Given the description of an element on the screen output the (x, y) to click on. 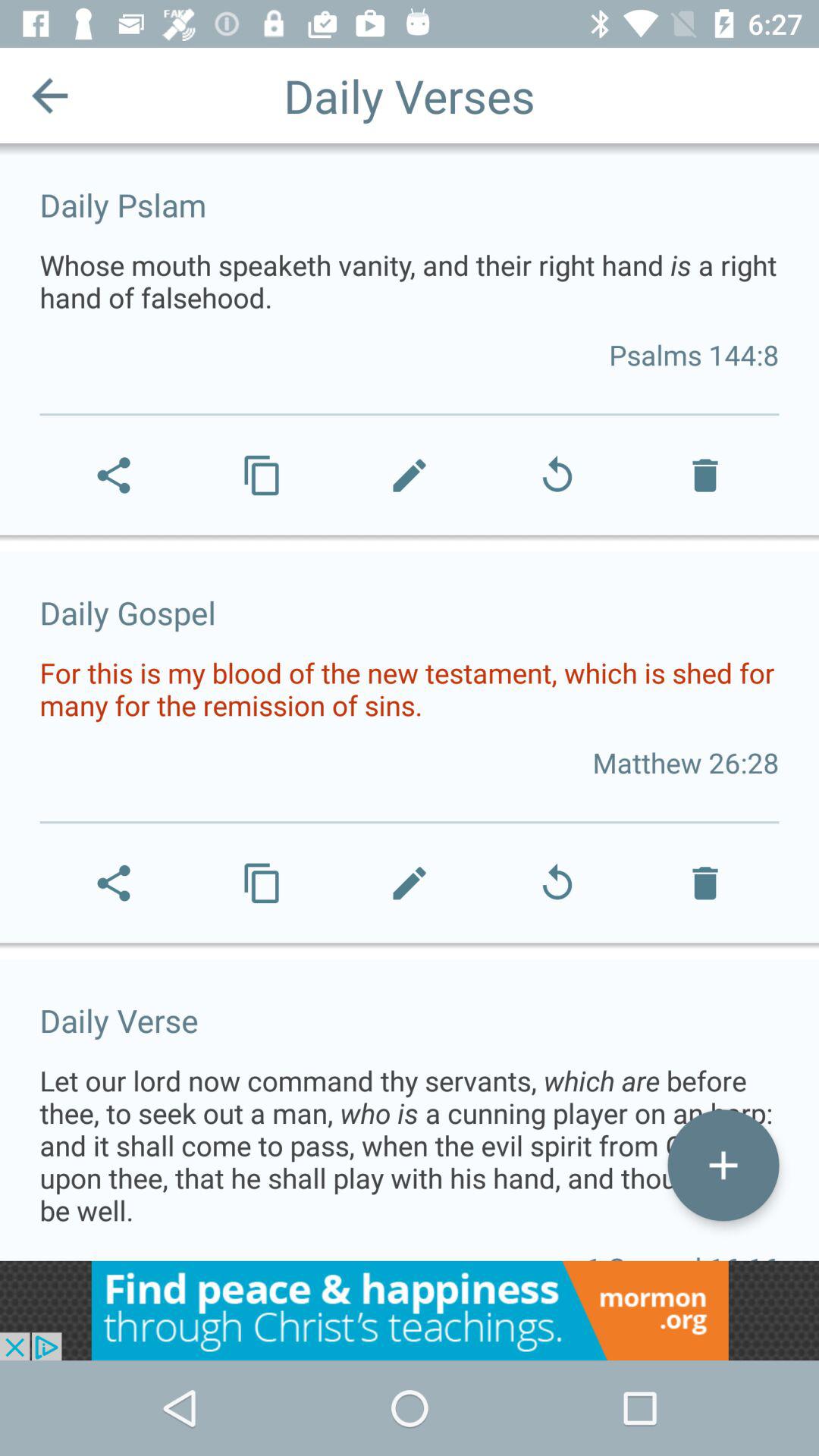
add daily vers (723, 1165)
